Given the description of an element on the screen output the (x, y) to click on. 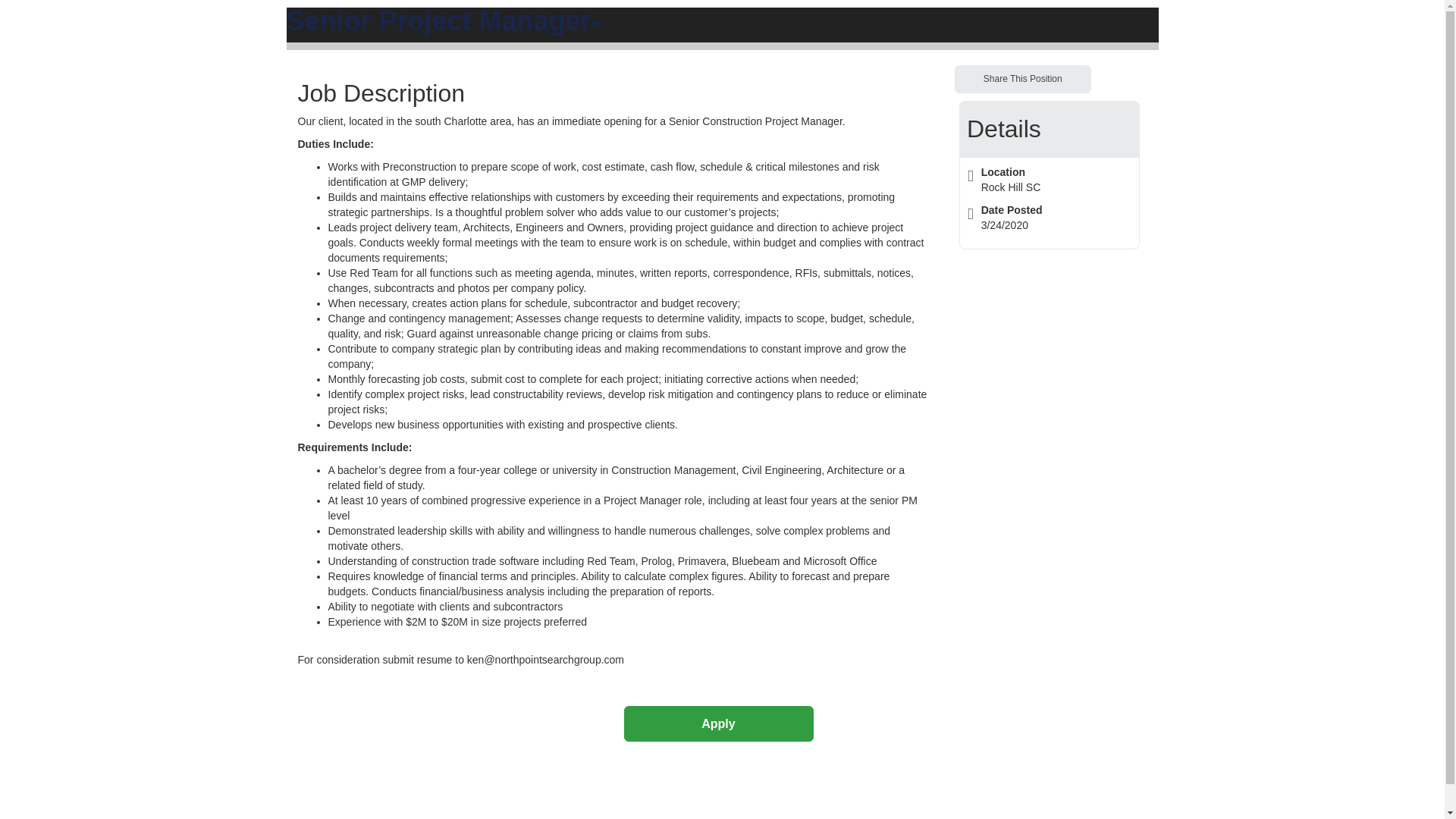
Share This Position (1022, 79)
Apply (717, 723)
